Given the description of an element on the screen output the (x, y) to click on. 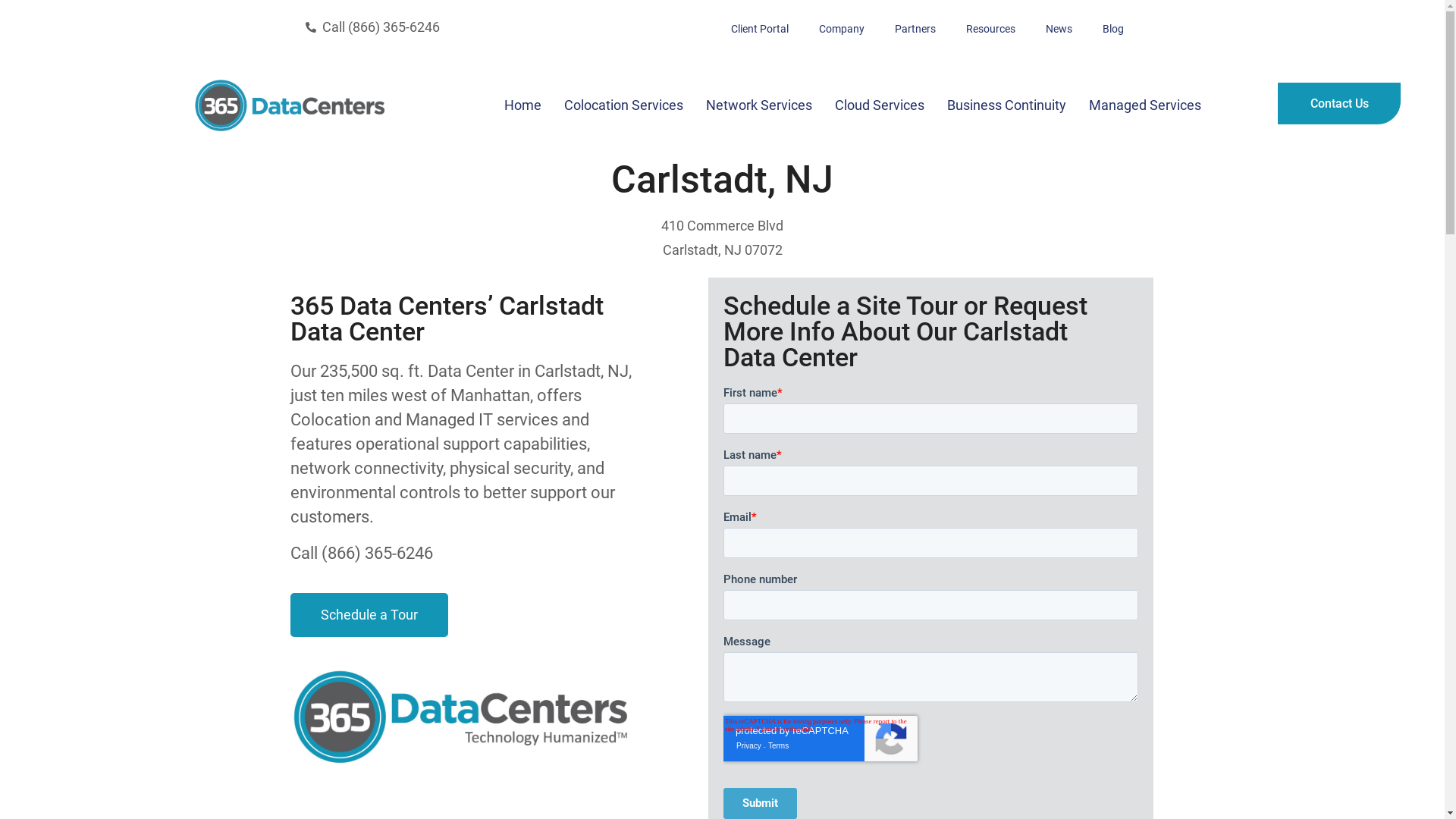
News Element type: text (1058, 28)
Business Continuity Element type: text (1006, 104)
Partners Element type: text (914, 28)
Schedule a Tour Element type: text (368, 615)
Resources Element type: text (990, 28)
Network Services Element type: text (759, 104)
Colocation Services Element type: text (623, 104)
Company Element type: text (841, 28)
Managed Services Element type: text (1144, 104)
Cloud Services Element type: text (879, 104)
Blog Element type: text (1113, 28)
Client Portal Element type: text (759, 28)
Home Element type: text (522, 104)
Contact Us Element type: text (1338, 103)
